Given the description of an element on the screen output the (x, y) to click on. 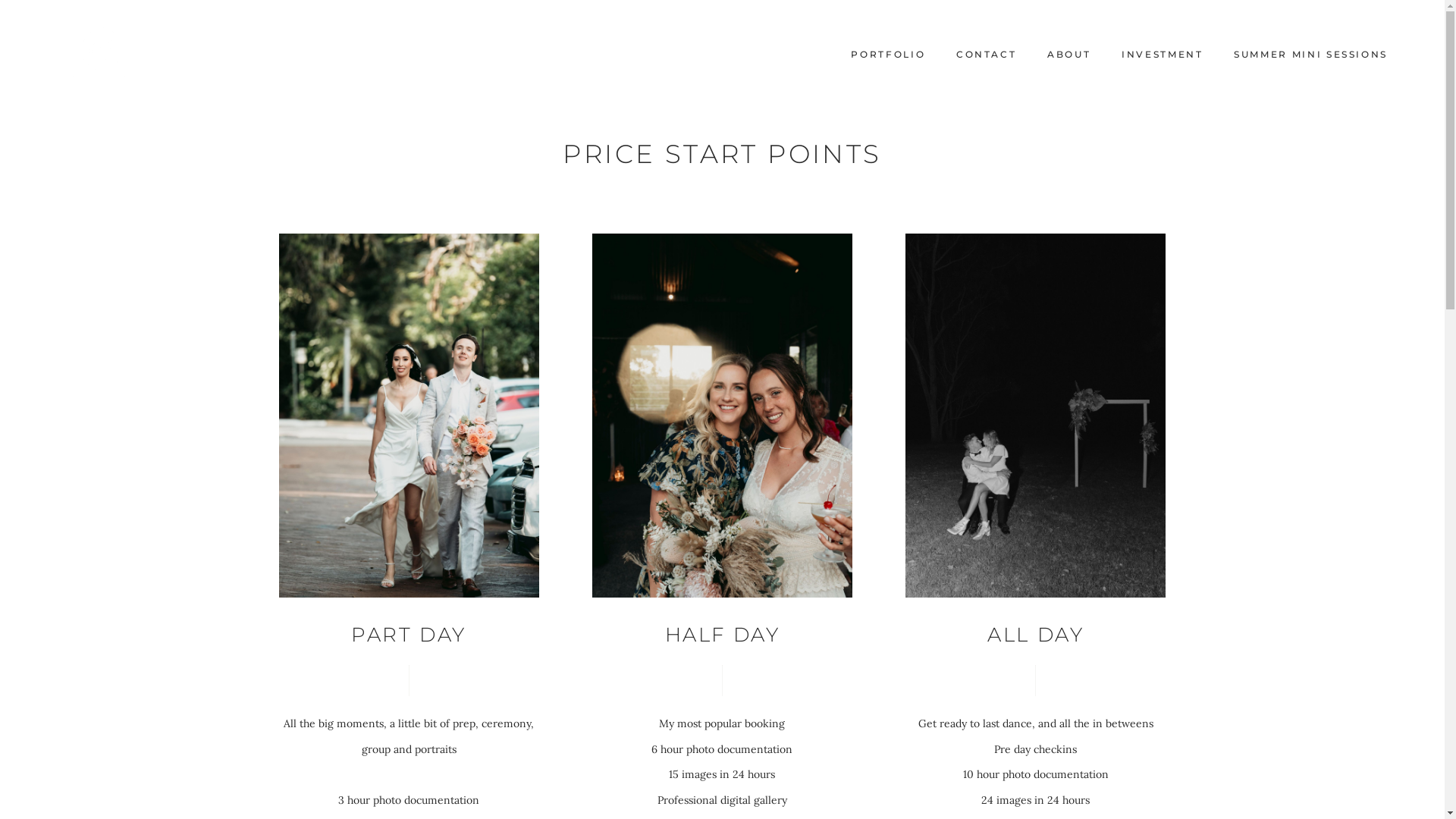
SUMMER MINI SESSIONS Element type: text (1310, 54)
CONTACT Element type: text (986, 54)
ABOUT Element type: text (1068, 54)
PORTFOLIO Element type: text (887, 54)
INVESTMENT Element type: text (1162, 54)
